Given the description of an element on the screen output the (x, y) to click on. 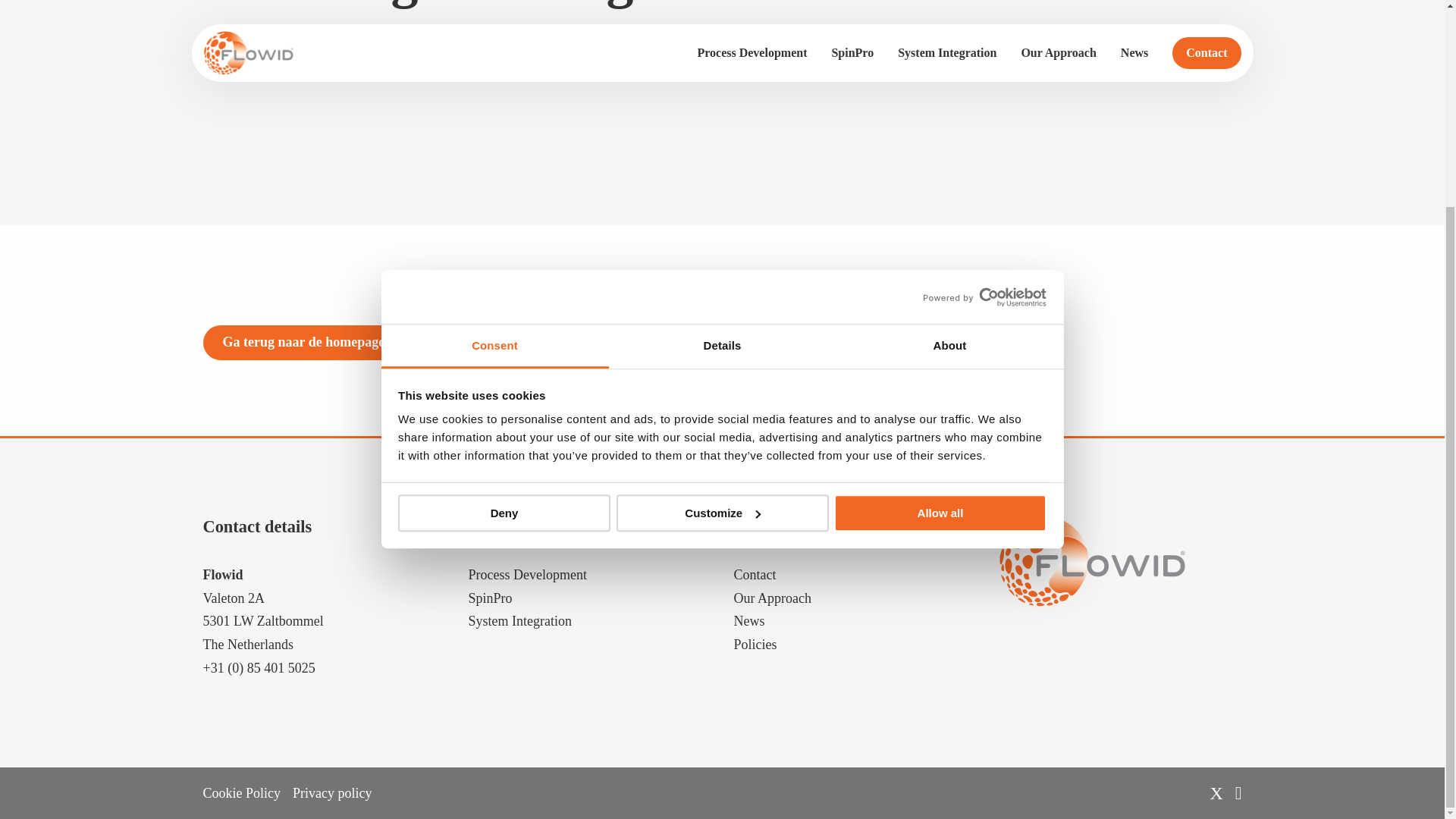
Details (721, 80)
Consent (494, 80)
Deny (503, 246)
About (948, 80)
Customize (721, 246)
Allow all (940, 246)
